Given the description of an element on the screen output the (x, y) to click on. 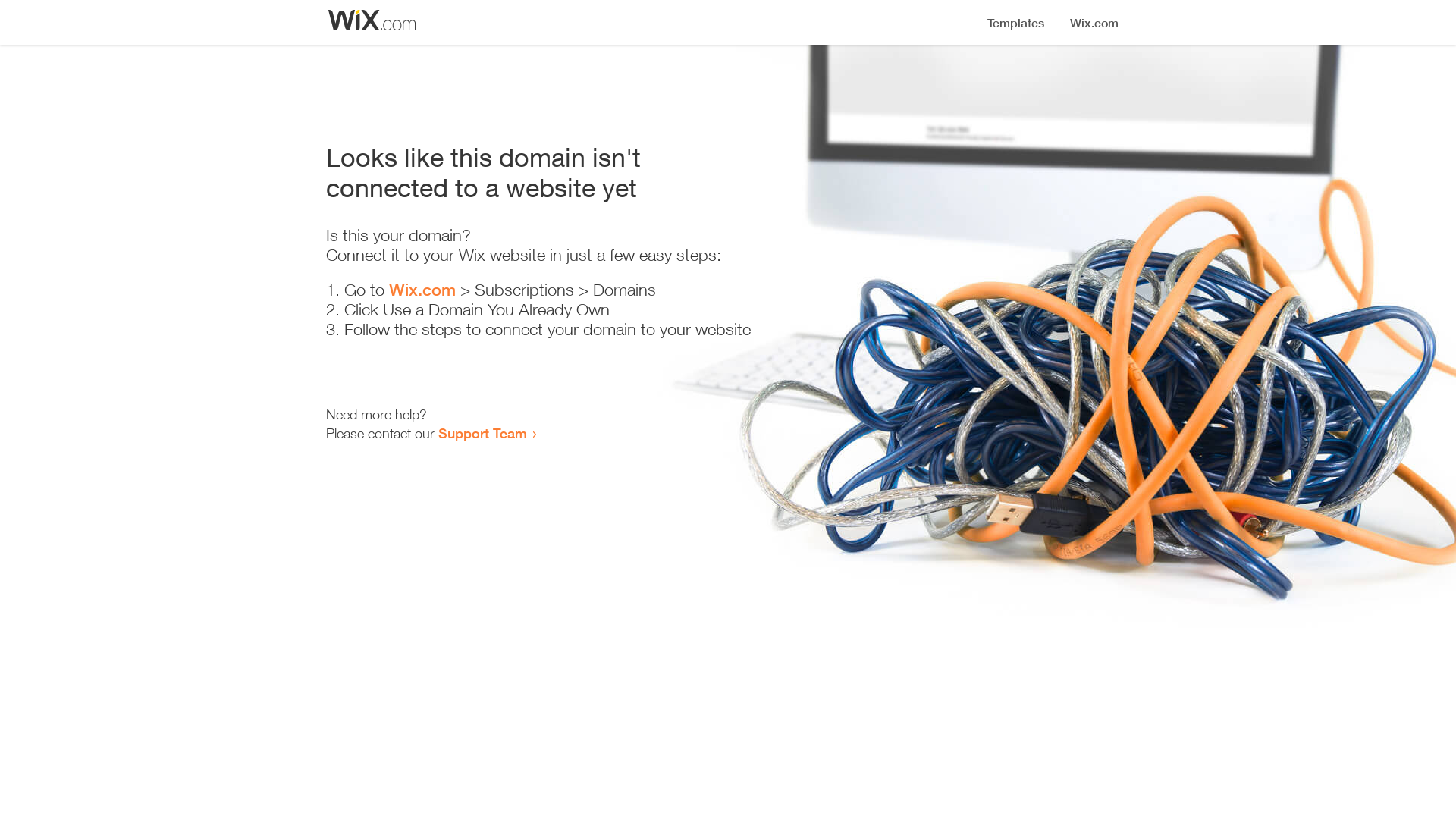
Support Team Element type: text (482, 432)
Wix.com Element type: text (422, 289)
